Given the description of an element on the screen output the (x, y) to click on. 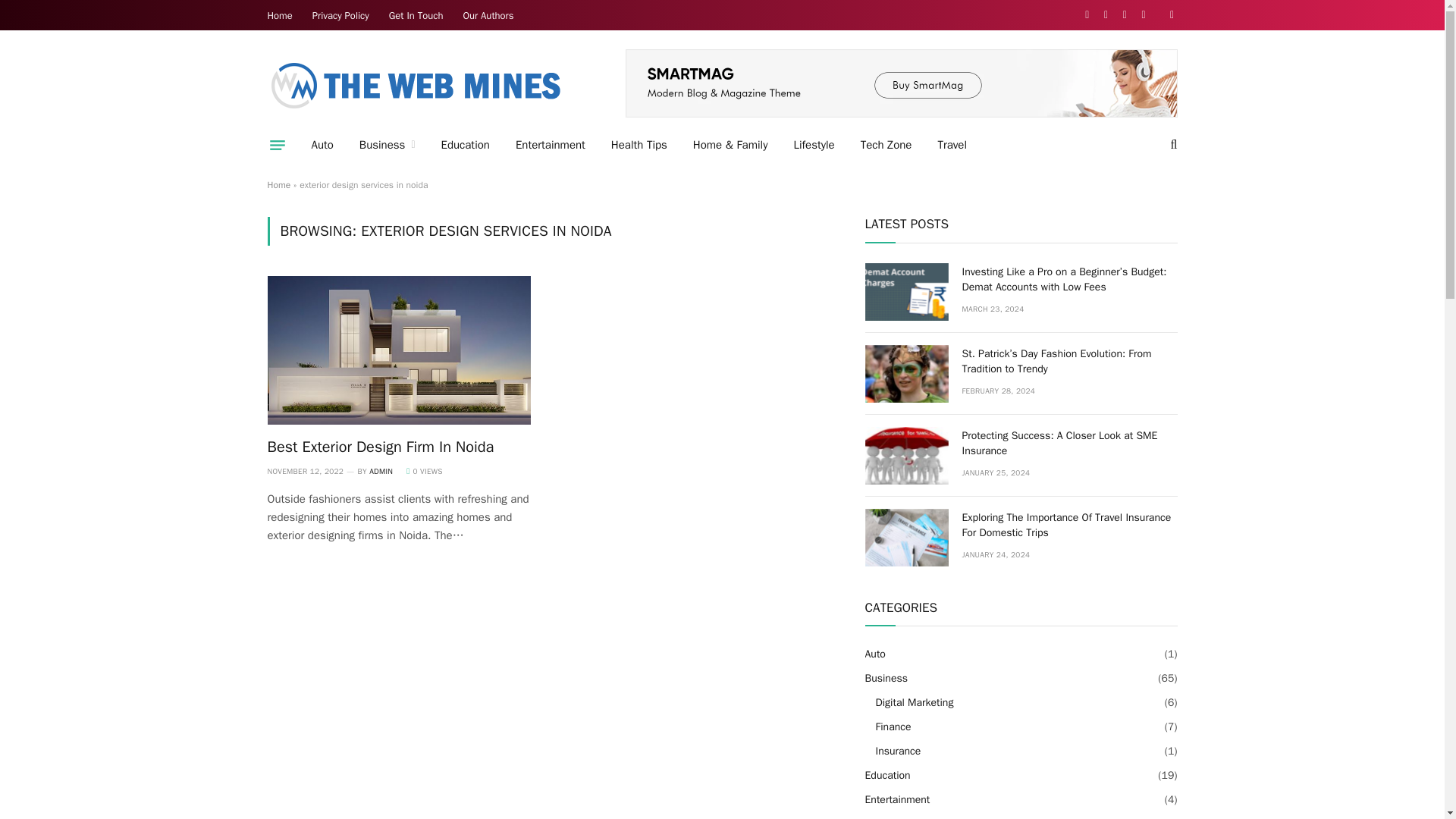
Auto (322, 144)
Get In Touch (415, 15)
Our Authors (487, 15)
Privacy Policy (340, 15)
Entertainment (550, 144)
Switch to Dark Design - easier on eyes. (1169, 14)
Business (387, 144)
Home (279, 15)
Health Tips (638, 144)
Best Exterior Design Firm In Noida (398, 350)
